Given the description of an element on the screen output the (x, y) to click on. 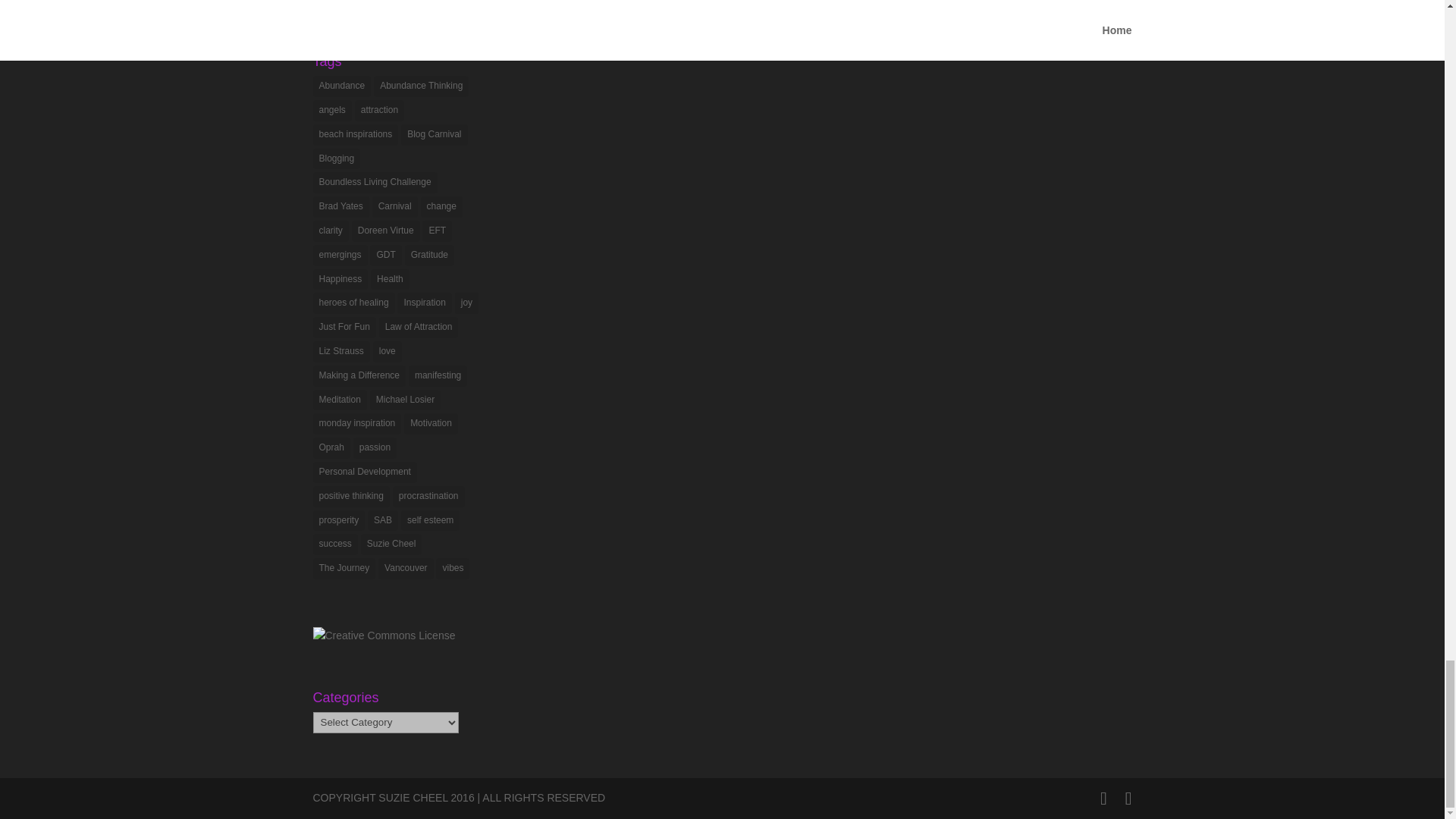
Blogging (336, 158)
attraction (379, 110)
Abundance Thinking (421, 86)
Blog Carnival (434, 134)
beach inspirations (355, 134)
Abundance (342, 86)
angels (331, 110)
